Given the description of an element on the screen output the (x, y) to click on. 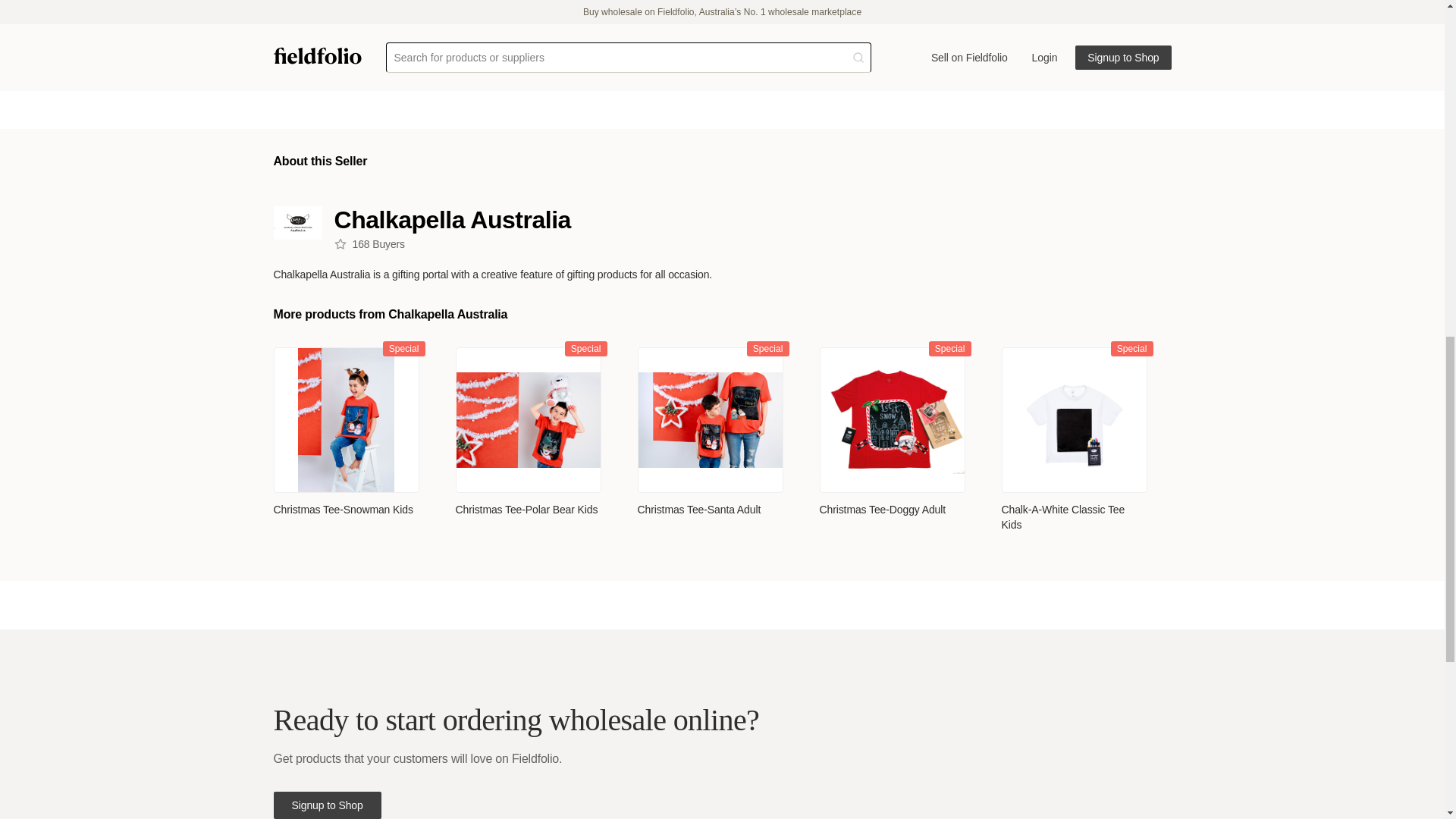
Christmas Tee-Polar Bear Kids (525, 509)
Signup to Shop (326, 805)
Christmas Tee-Santa Adult (698, 509)
Christmas Tee-Doggy Adult (881, 509)
Christmas Tee-Snowman Kids (342, 509)
Create your Sales Rep Profile (1060, 1)
Chalk-A-White Classic Tee Kids (1074, 517)
